Given the description of an element on the screen output the (x, y) to click on. 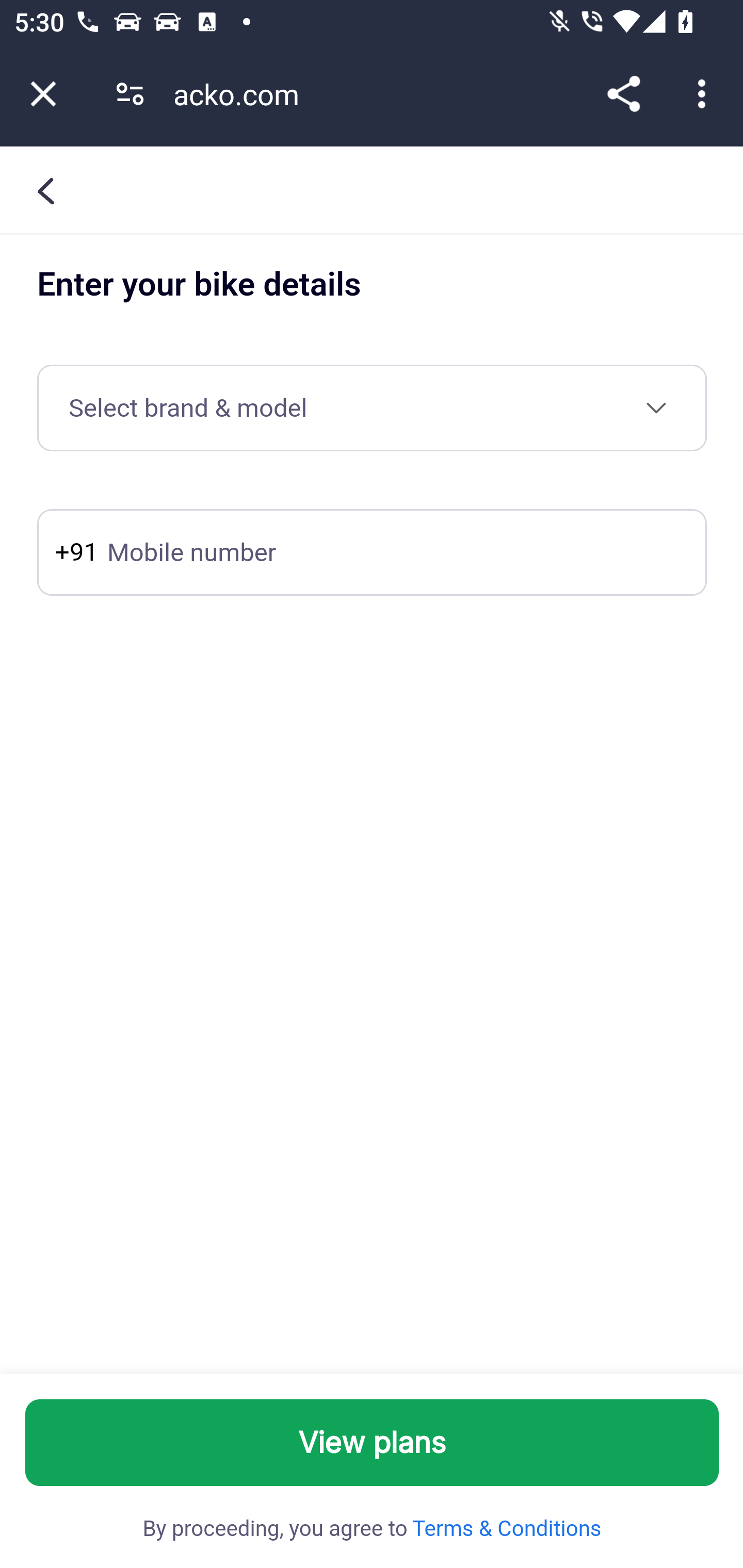
Close tab (43, 93)
Share (623, 93)
Customize and control Google Chrome (705, 93)
Connection is secure (129, 93)
acko.com (243, 93)
Mobile number  (372, 553)
View plans (372, 1443)
 Terms & Conditions (504, 1529)
